Given the description of an element on the screen output the (x, y) to click on. 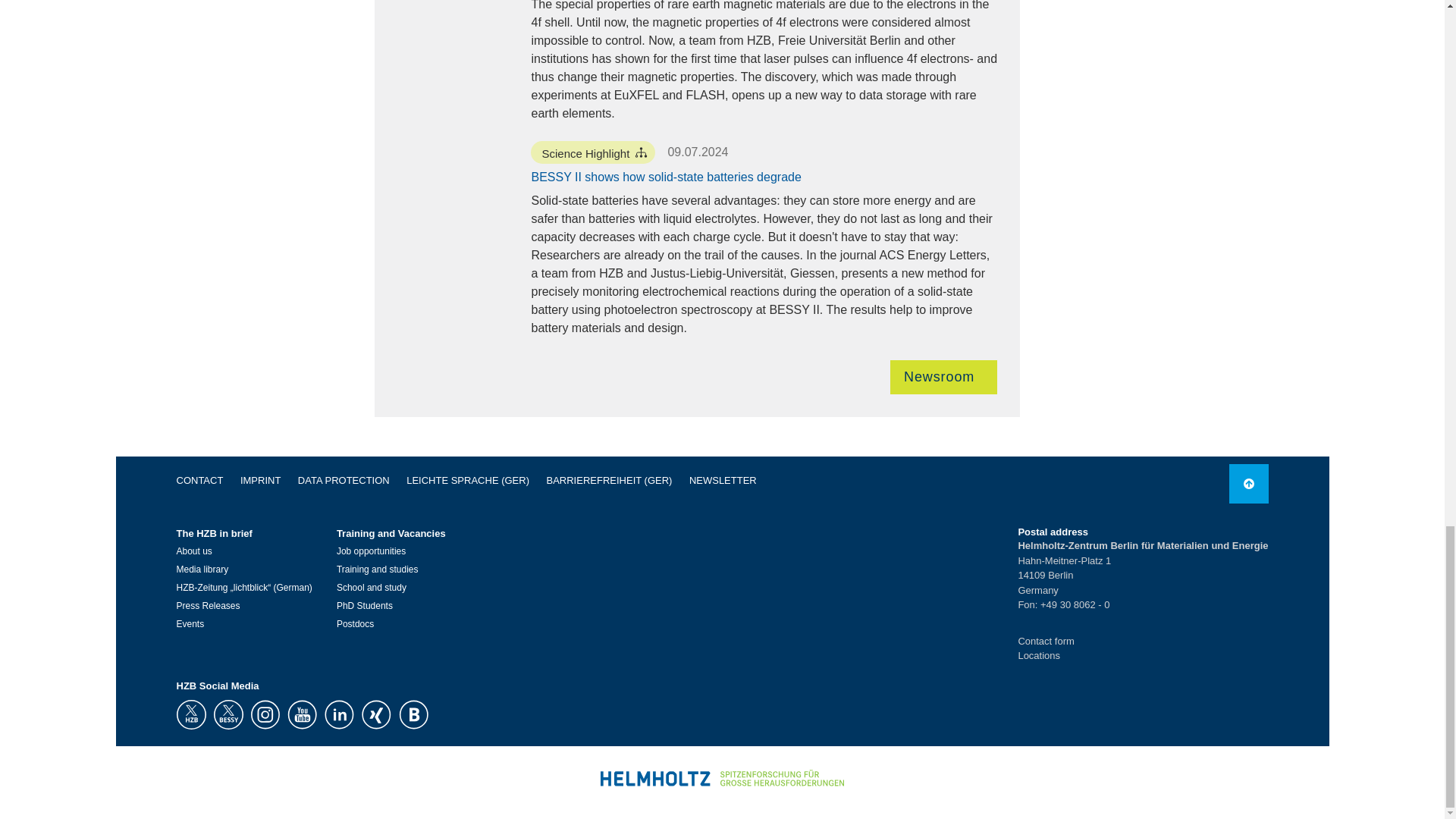
HZB Instagram (264, 714)
BESSY X (228, 714)
HZB X (190, 714)
HZB Youtube (300, 714)
HZB LinkedIn (338, 714)
